Given the description of an element on the screen output the (x, y) to click on. 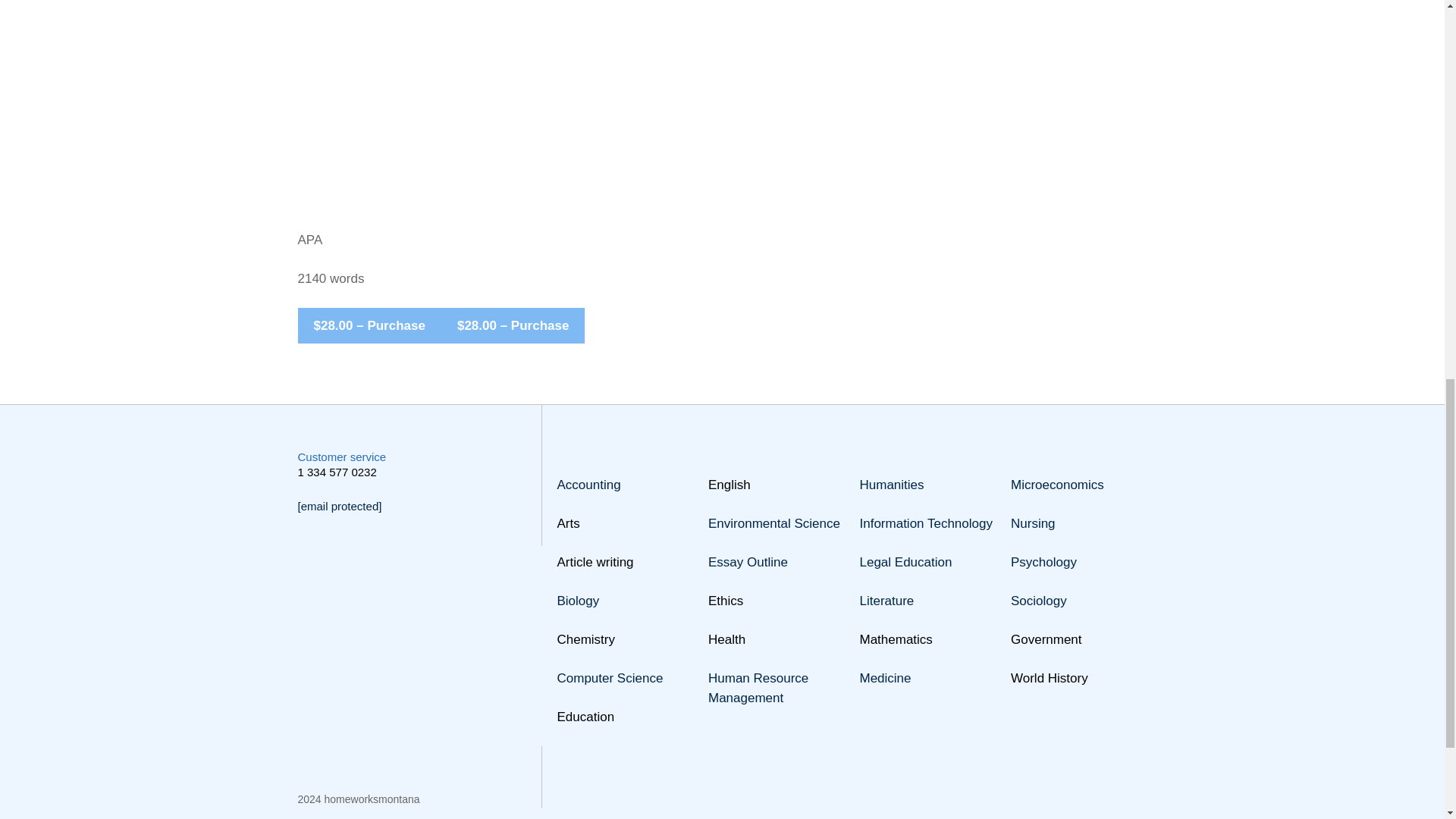
Computer Science (609, 677)
Accounting (588, 484)
Biology (577, 600)
Human Resource Management (757, 687)
Nursing (1032, 523)
Medicine (885, 677)
Literature (887, 600)
Legal Education (906, 562)
Information Technology (926, 523)
Environmental Science (773, 523)
Microeconomics (1056, 484)
Essay Outline (747, 562)
Humanities (892, 484)
